Given the description of an element on the screen output the (x, y) to click on. 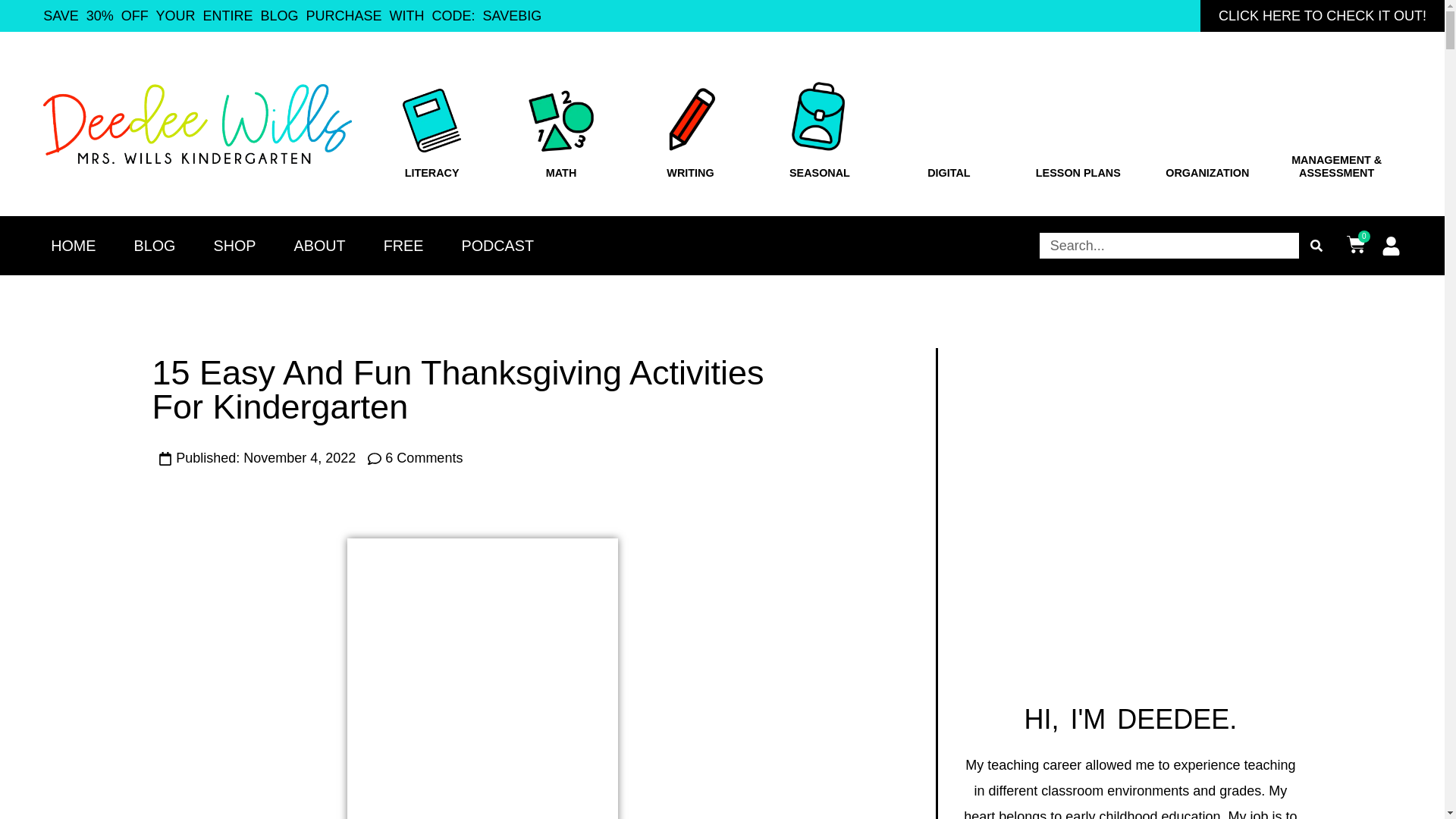
HOME (73, 245)
LITERACY (432, 173)
SHOP (234, 245)
LESSON PLANS (1078, 173)
FREE (402, 245)
ABOUT (319, 245)
ORGANIZATION (1207, 173)
PODCAST (496, 245)
MATH (561, 173)
WRITING (689, 173)
SEASONAL (819, 173)
BLOG (154, 245)
DIGITAL (949, 173)
